Given the description of an element on the screen output the (x, y) to click on. 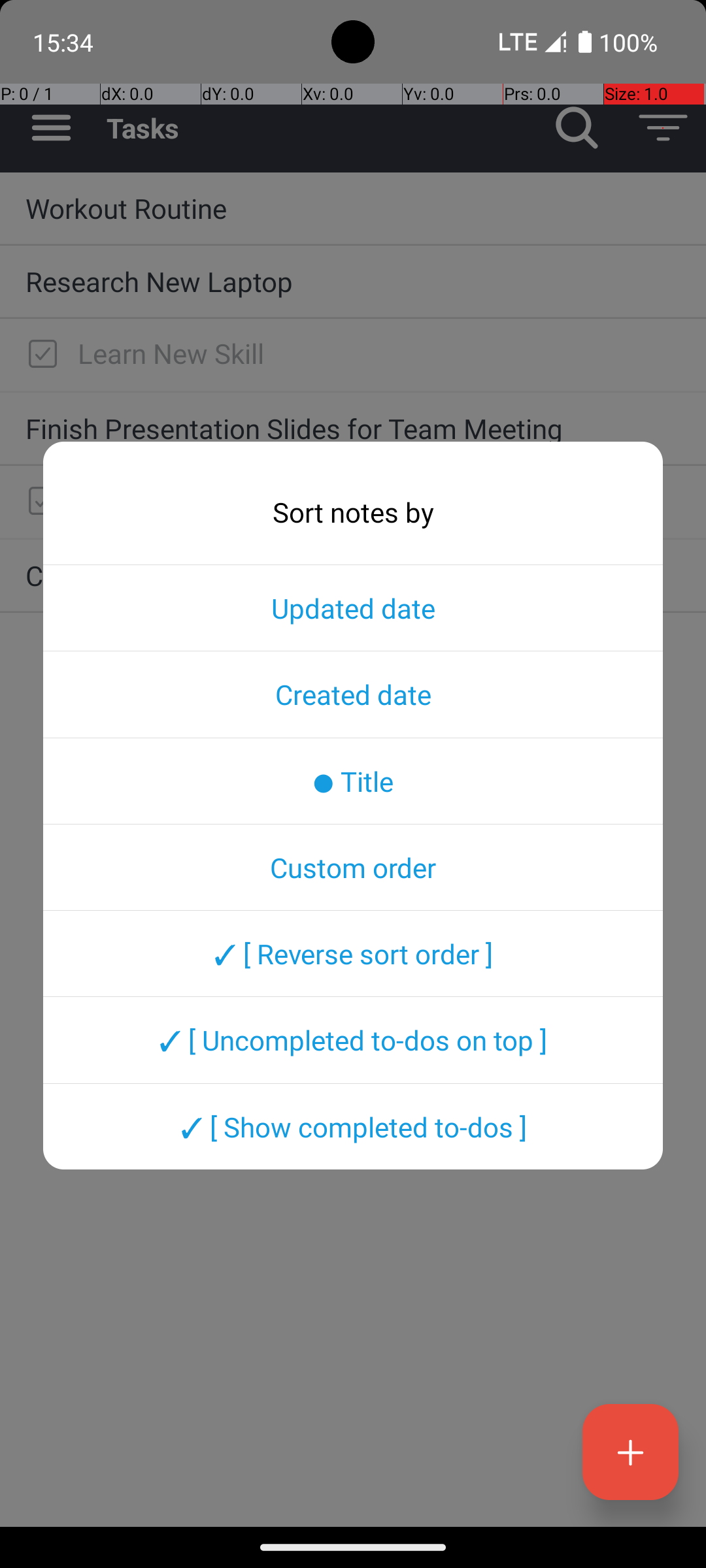
Updated date Element type: android.widget.TextView (352, 607)
Created date Element type: android.widget.TextView (352, 693)
⬤ Title Element type: android.widget.TextView (352, 780)
Custom order Element type: android.widget.TextView (352, 866)
✓ [ Reverse sort order ] Element type: android.widget.TextView (352, 953)
✓ [ Uncompleted to-dos on top ] Element type: android.widget.TextView (352, 1039)
✓ [ Show completed to-dos ] Element type: android.widget.TextView (352, 1126)
Workout Routine Element type: android.widget.TextView (352, 207)
Research New Laptop Element type: android.widget.TextView (352, 280)
to-do: Learn New Skill Element type: android.widget.CheckBox (38, 354)
Learn New Skill Element type: android.widget.TextView (378, 352)
Finish Presentation Slides for Team Meeting Element type: android.widget.TextView (352, 427)
to-do: Email Project Update to Client Element type: android.widget.CheckBox (38, 501)
Email Project Update to Client Element type: android.widget.TextView (378, 499)
Call Mom for Her Birthday Element type: android.widget.TextView (352, 574)
